Given the description of an element on the screen output the (x, y) to click on. 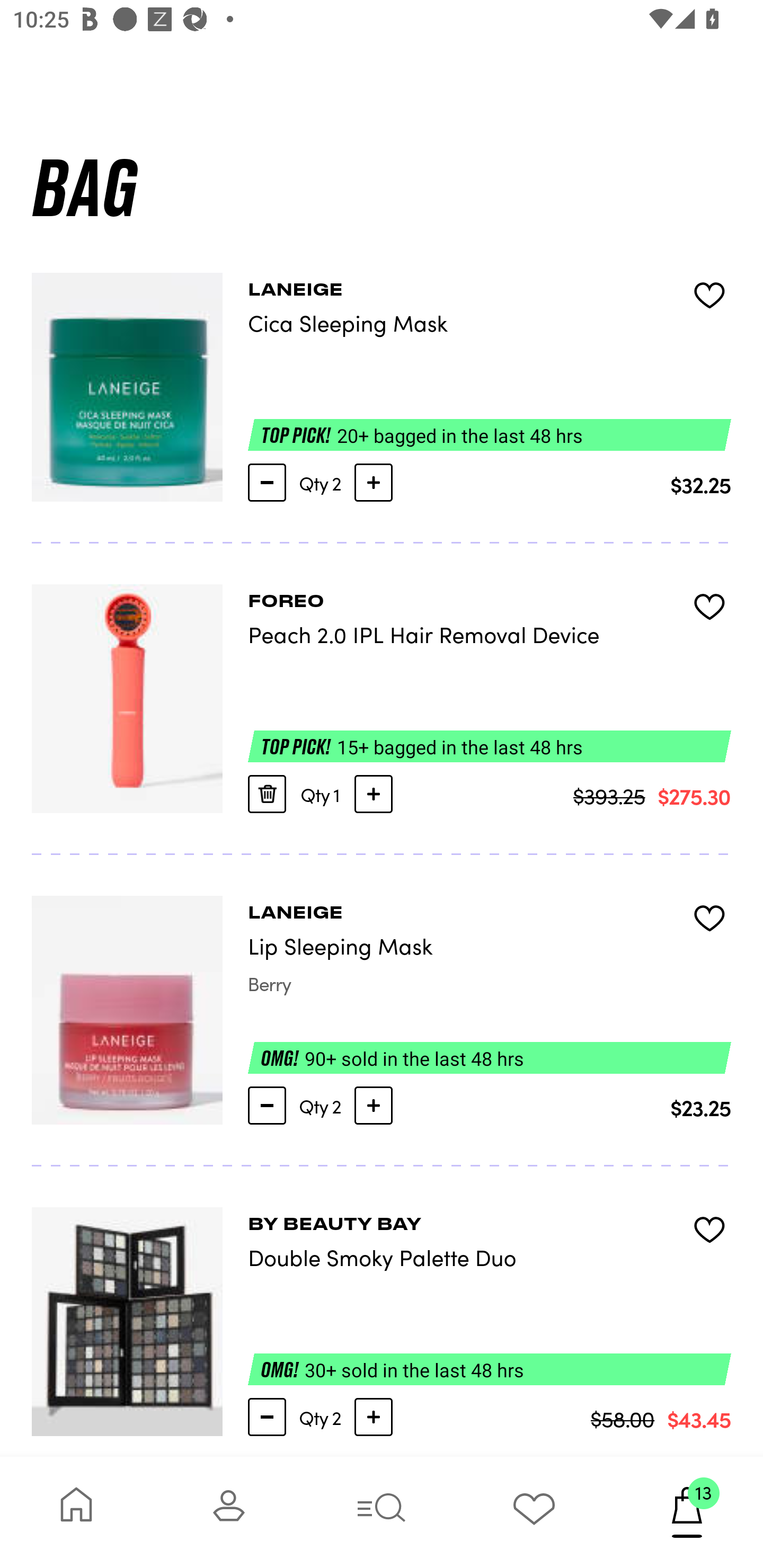
13 (686, 1512)
